Given the description of an element on the screen output the (x, y) to click on. 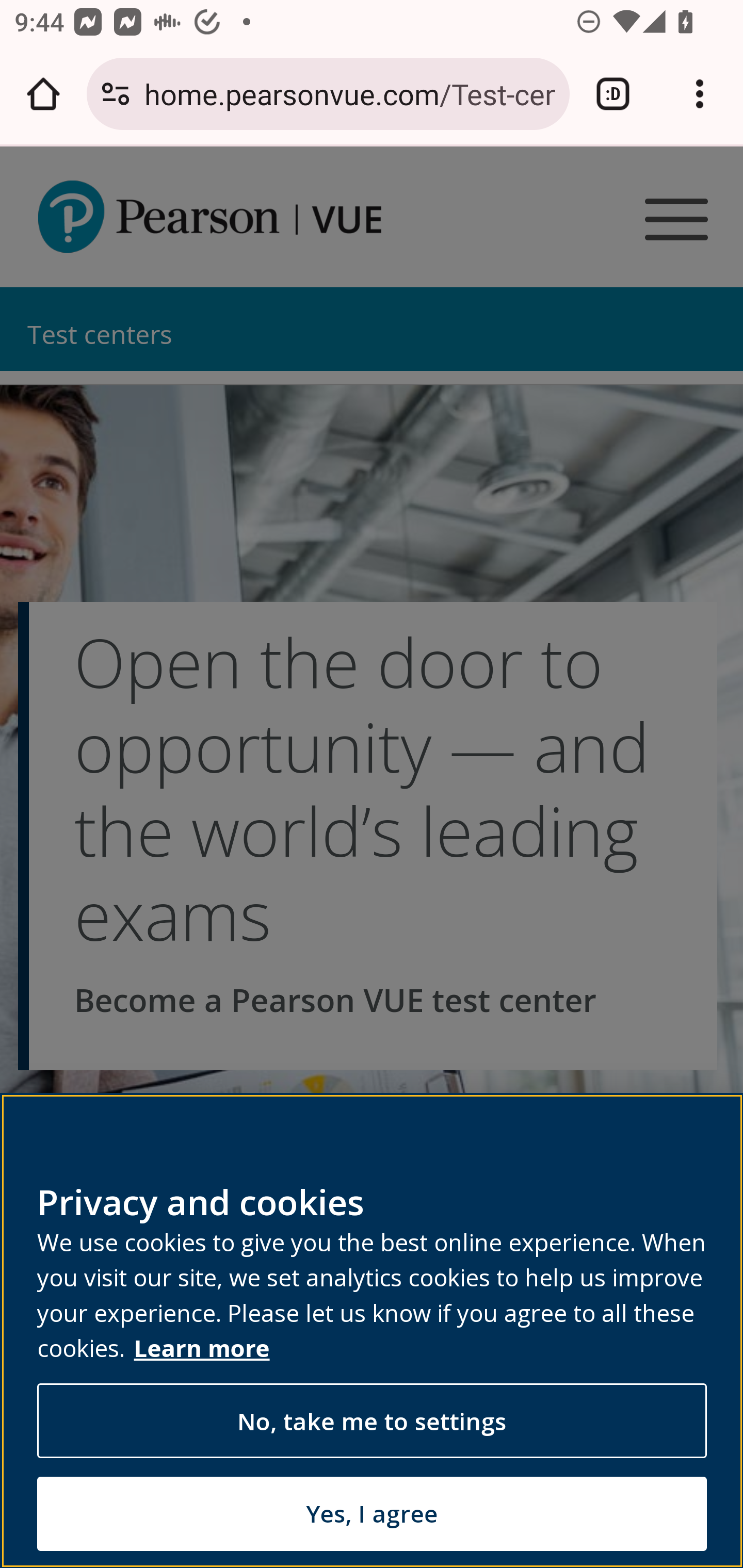
Open the home page (43, 93)
Connection is secure (115, 93)
Switch or close tabs (612, 93)
Customize and control Google Chrome (699, 93)
No, take me to settings (372, 1420)
Yes, I agree (372, 1512)
